Given the description of an element on the screen output the (x, y) to click on. 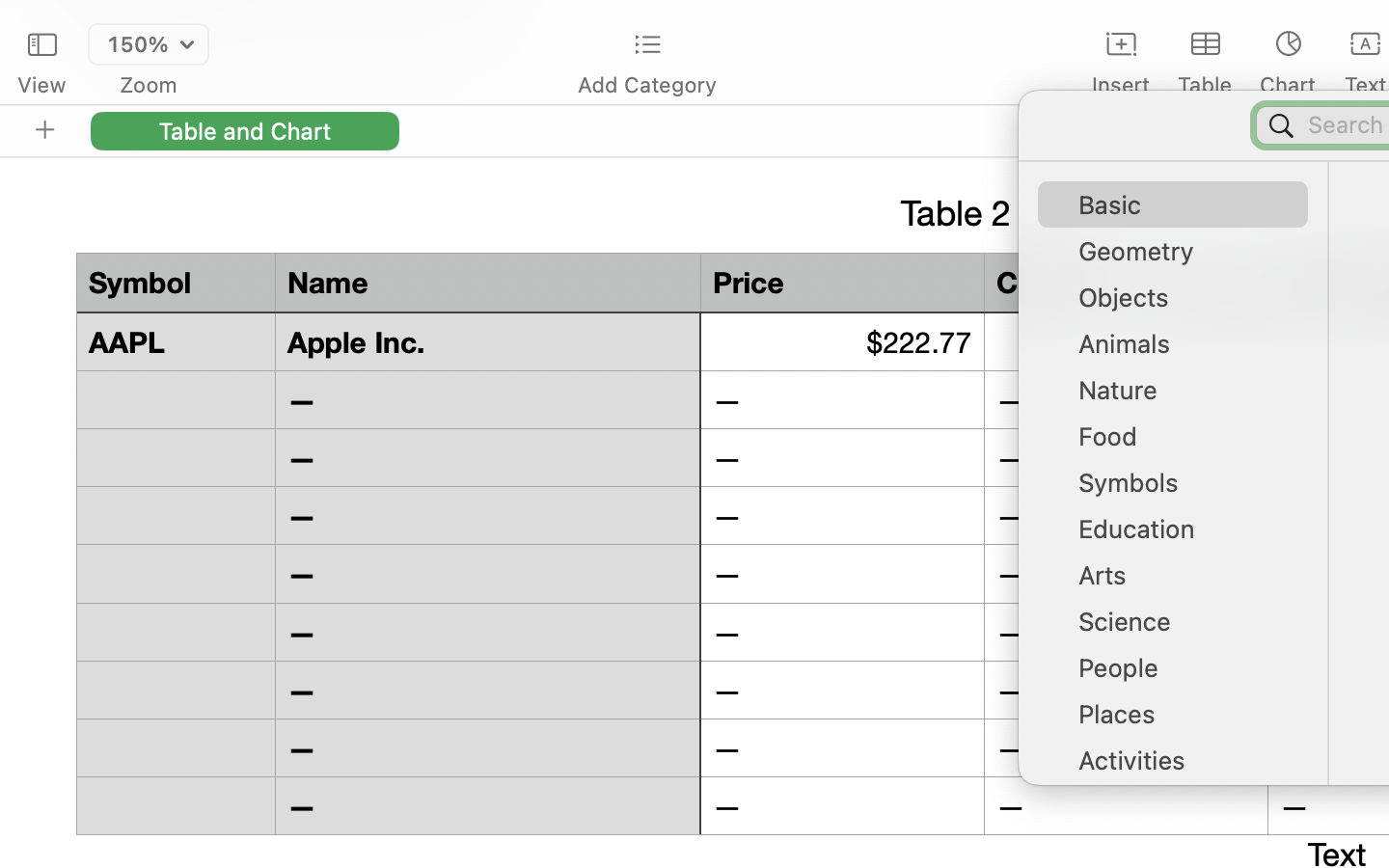
Zoom Element type: AXStaticText (148, 84)
